Given the description of an element on the screen output the (x, y) to click on. 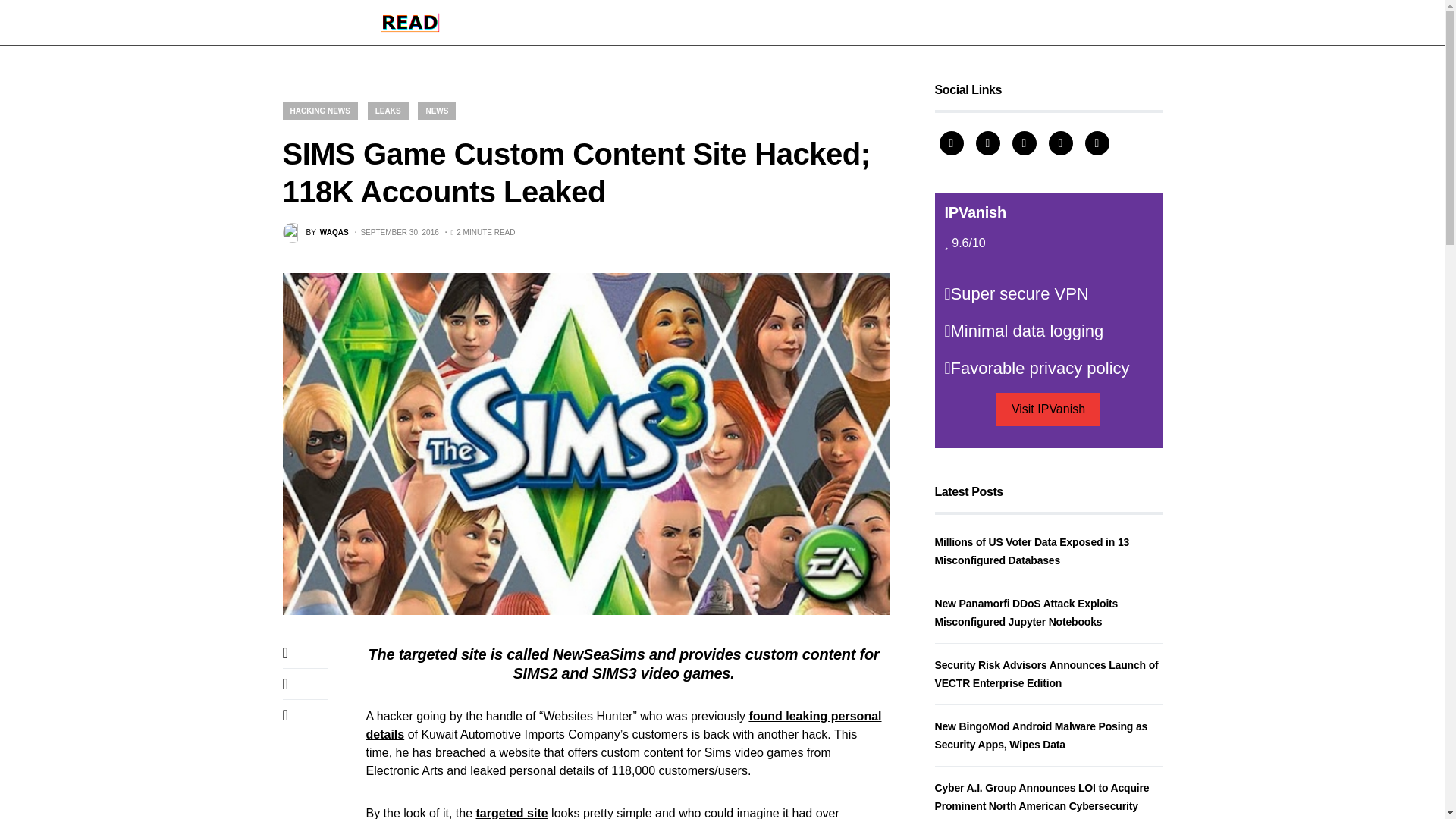
View all posts by Waqas (314, 232)
Hacking News (518, 22)
Technology (597, 22)
